Given the description of an element on the screen output the (x, y) to click on. 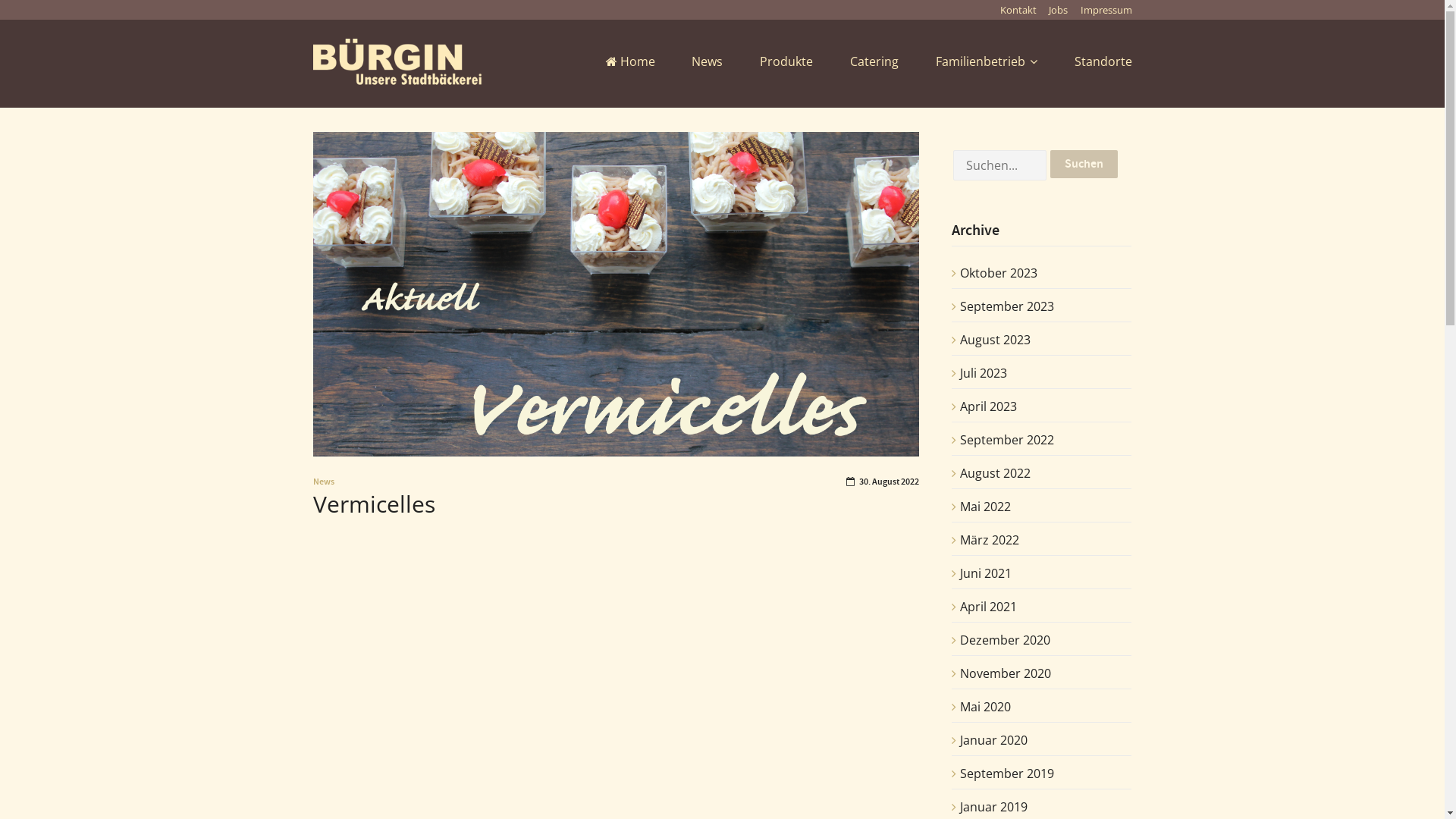
November 2020 Element type: text (1005, 673)
Januar 2020 Element type: text (993, 739)
September 2023 Element type: text (1007, 306)
Oktober 2023 Element type: text (998, 272)
Catering Element type: text (874, 63)
Juli 2023 Element type: text (983, 372)
Kontakt Element type: text (1018, 9)
Familienbetrieb Element type: text (986, 63)
Juni 2021 Element type: text (985, 572)
30. August 2022 Element type: text (882, 481)
Standorte Element type: text (1100, 63)
News Element type: text (322, 481)
Jobs Element type: text (1057, 9)
Home Element type: text (630, 63)
August 2022 Element type: text (995, 472)
News Element type: text (706, 63)
Impressum Element type: text (1105, 9)
April 2023 Element type: text (988, 406)
April 2021 Element type: text (988, 606)
Suchen Element type: text (1083, 164)
September 2022 Element type: text (1007, 439)
Produkte Element type: text (785, 63)
Januar 2019 Element type: text (993, 806)
Mai 2020 Element type: text (985, 706)
Dezember 2020 Element type: text (1005, 639)
September 2019 Element type: text (1007, 773)
August 2023 Element type: text (995, 339)
Mai 2022 Element type: text (985, 506)
